Given the description of an element on the screen output the (x, y) to click on. 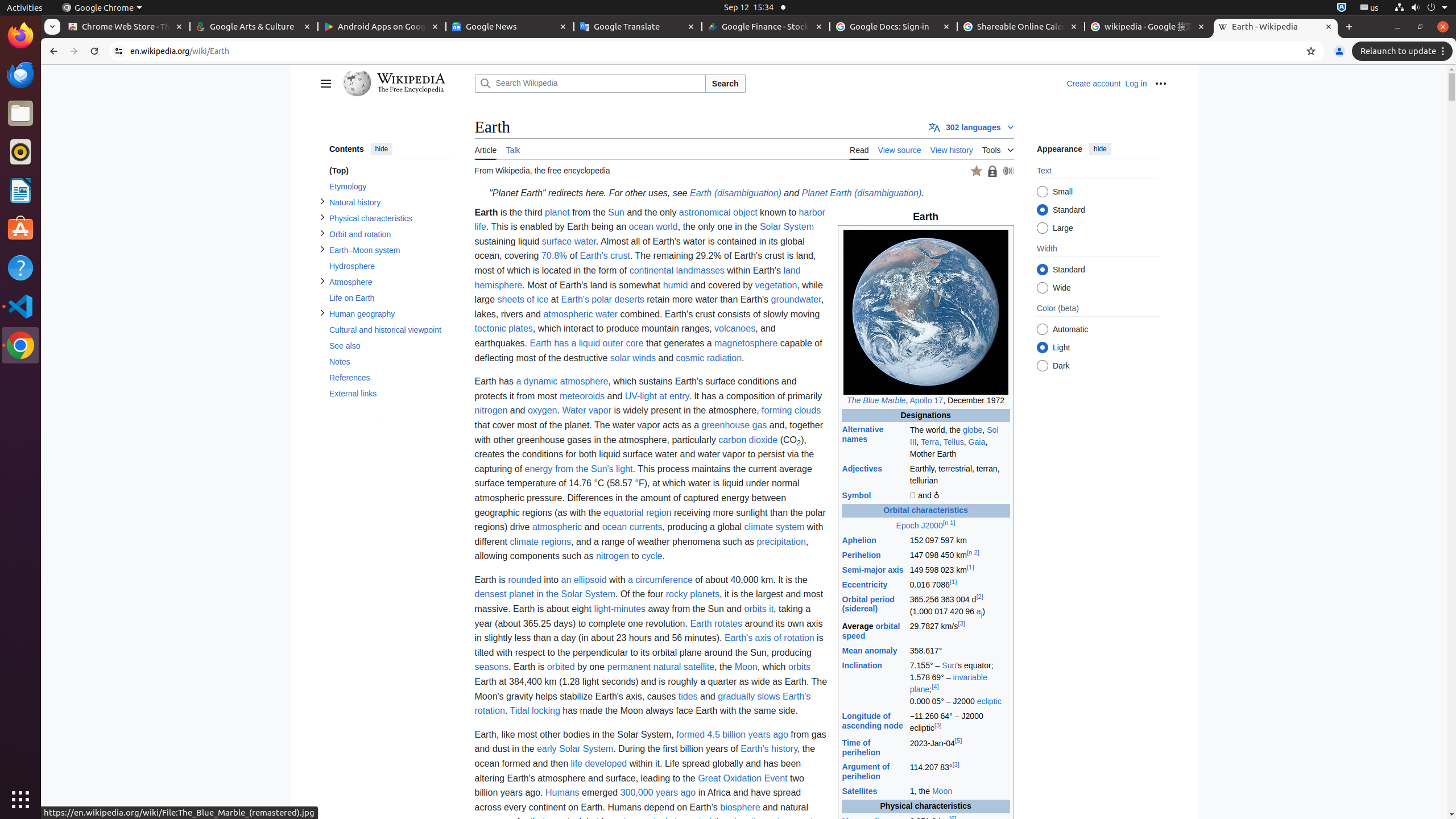
Thunderbird Mail Element type: push-button (20, 74)
Standard Element type: radio-button (1042, 269)
harbor life Element type: link (649, 219)
Toggle Natural history subsection Element type: push-button (321, 201)
landmasses Element type: link (699, 270)
